Given the description of an element on the screen output the (x, y) to click on. 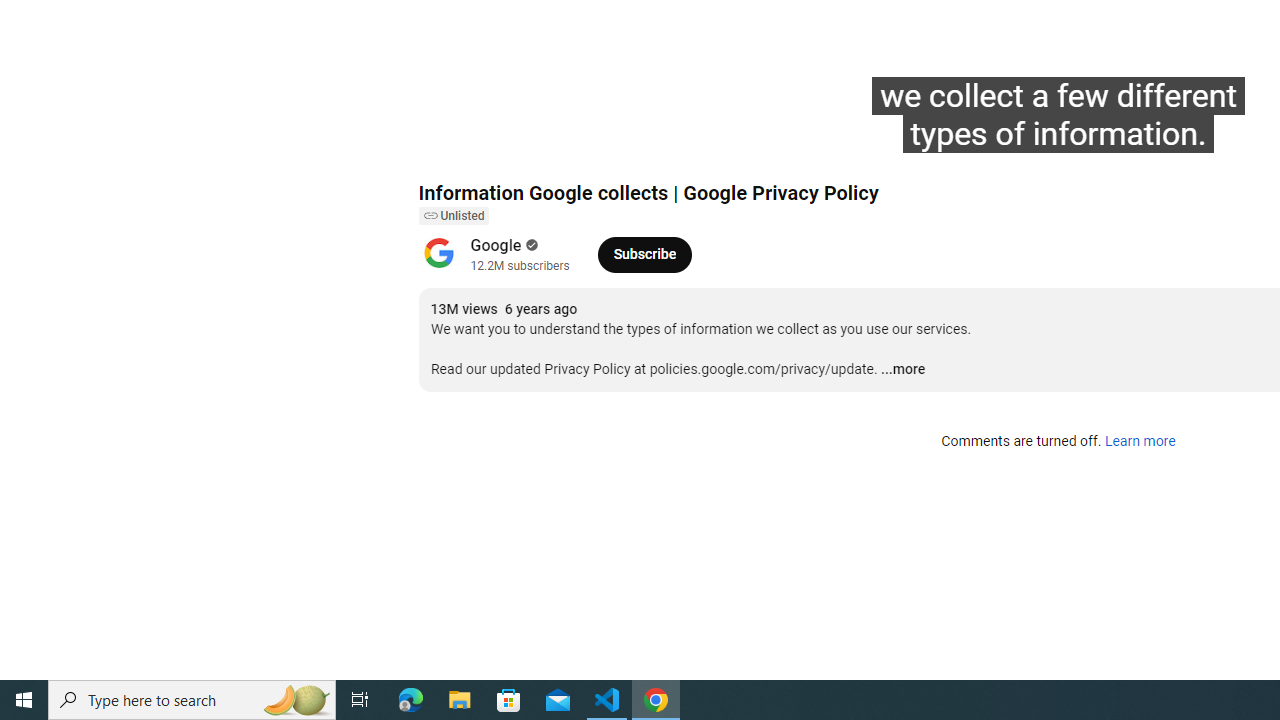
Subscribe to Google. (644, 254)
Pause (k) (453, 142)
Verified (530, 245)
...more (902, 370)
Google (496, 245)
Unlisted (453, 216)
Learn more (1139, 442)
Mute (m) (548, 142)
Next (SHIFT+n) (500, 142)
